Given the description of an element on the screen output the (x, y) to click on. 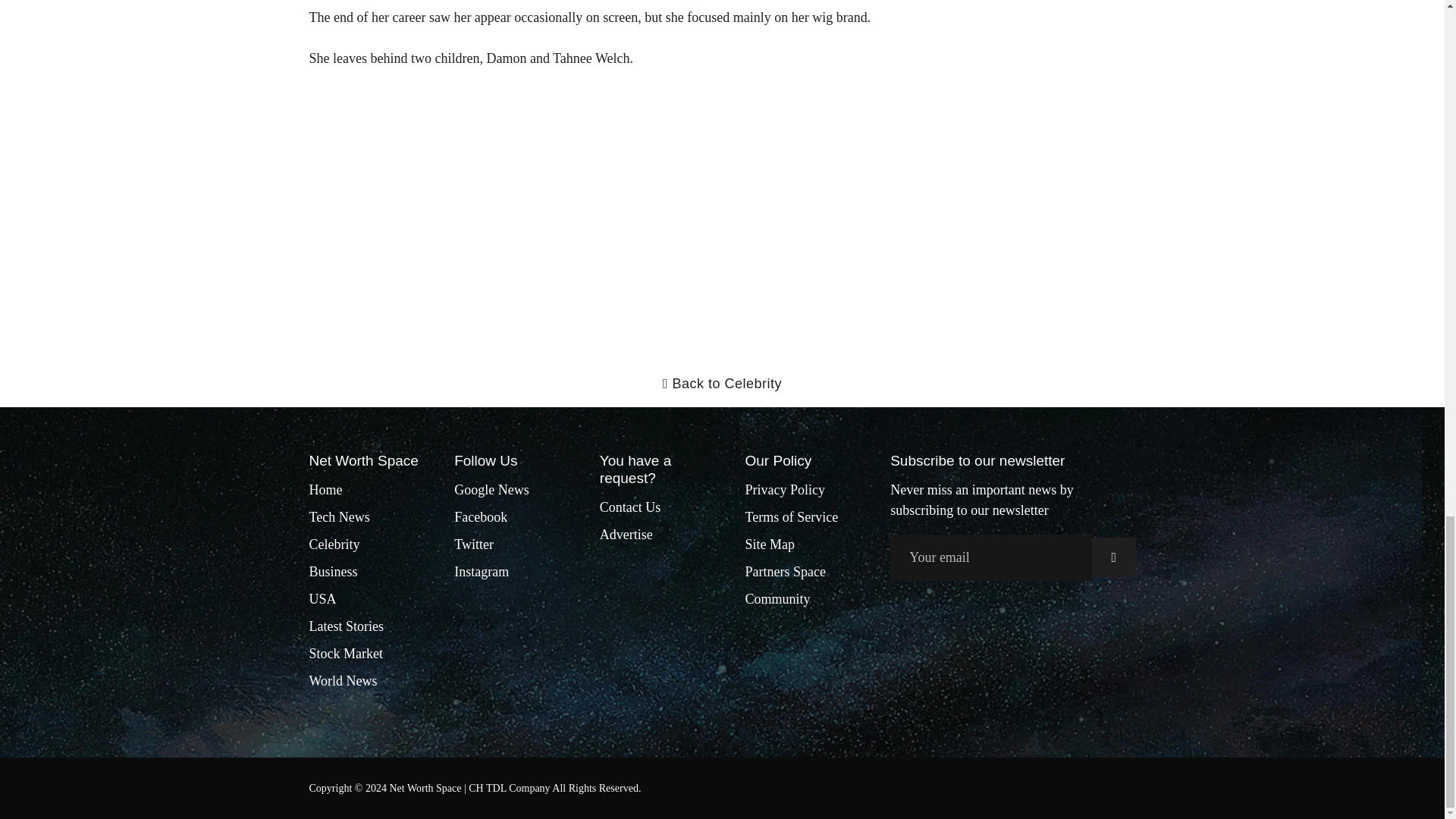
Celebrity (333, 544)
Latest Stories (346, 626)
Google News (491, 489)
Facebook (480, 516)
Home (325, 489)
Tech News (338, 516)
Stock Market (345, 653)
World News (342, 680)
USA (322, 598)
Business (333, 571)
